Given the description of an element on the screen output the (x, y) to click on. 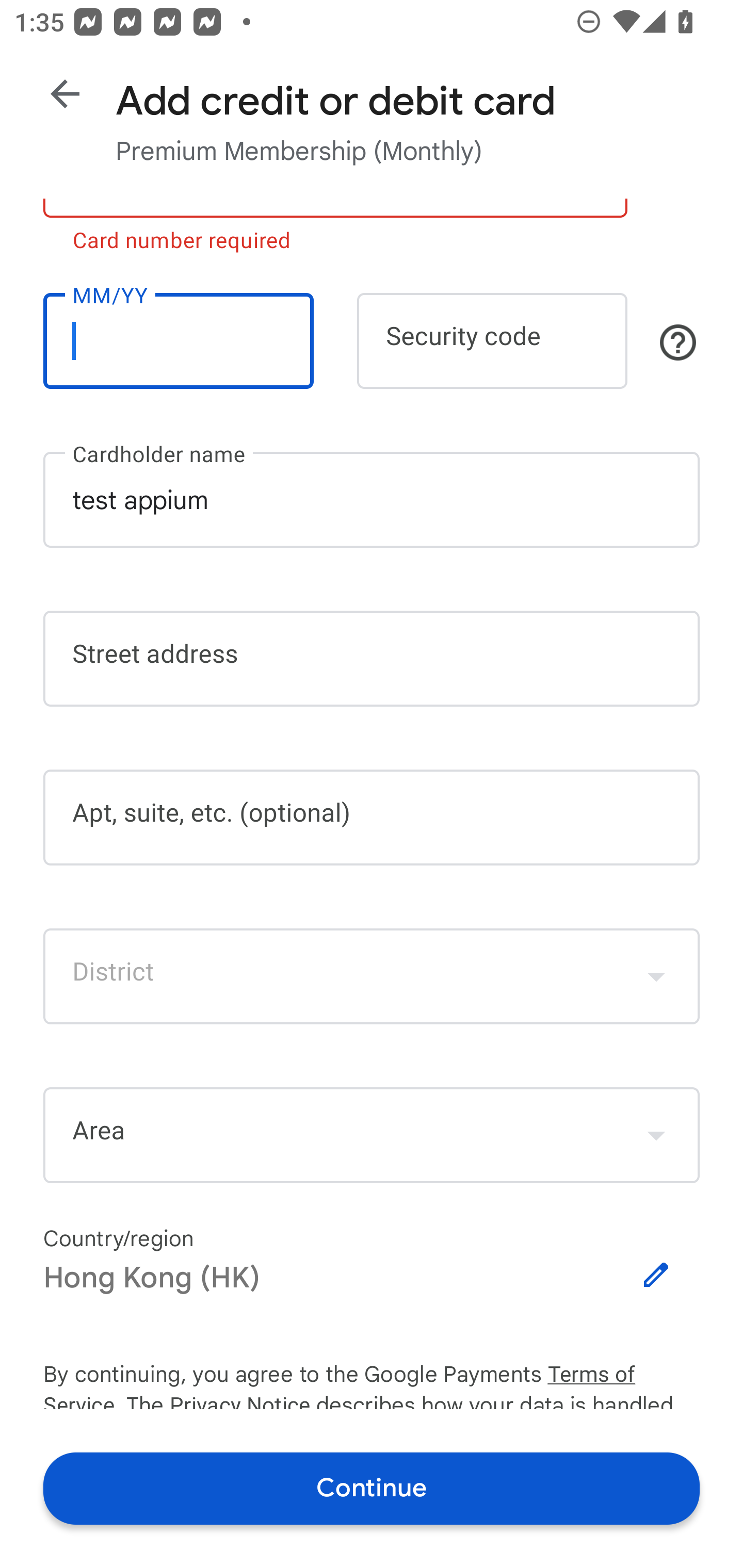
Back (64, 93)
Expiration date, 2 digit month, 2 digit year (178, 340)
Security code (492, 340)
Security code help (677, 342)
test appium (371, 499)
Street address (371, 658)
Apt, suite, etc. (optional) (371, 817)
District (371, 975)
Show dropdown menu (655, 975)
Area (371, 1134)
Show dropdown menu (655, 1135)
country edit button (655, 1275)
Terms of Service (623, 1374)
Continue (371, 1487)
